Given the description of an element on the screen output the (x, y) to click on. 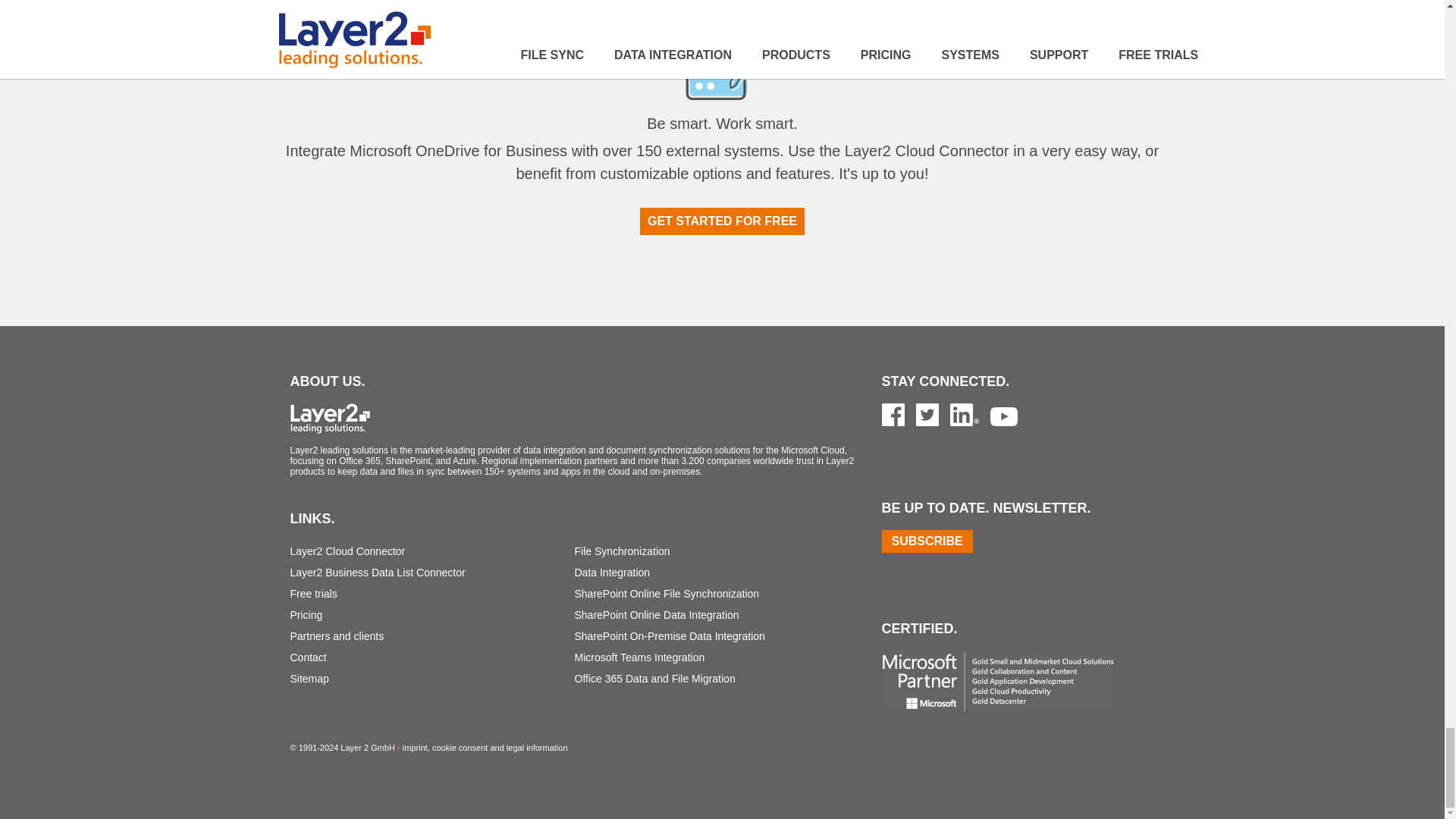
icon-CC-sign-up (722, 61)
SUBSCRIBE (926, 540)
Data Integration (612, 572)
cookie consent (459, 747)
Pricing (305, 614)
SharePoint Online Data Integration (657, 614)
Contact (307, 657)
Office 365 Data and File Migration (655, 678)
Layer2 Cloud Connector (346, 551)
Microsoft Teams Integration (639, 657)
Layer2 Business Data List Connector (376, 572)
legal information (536, 747)
File Synchronization (622, 551)
GET STARTED FOR FREE (722, 221)
Free trials (312, 593)
